Given the description of an element on the screen output the (x, y) to click on. 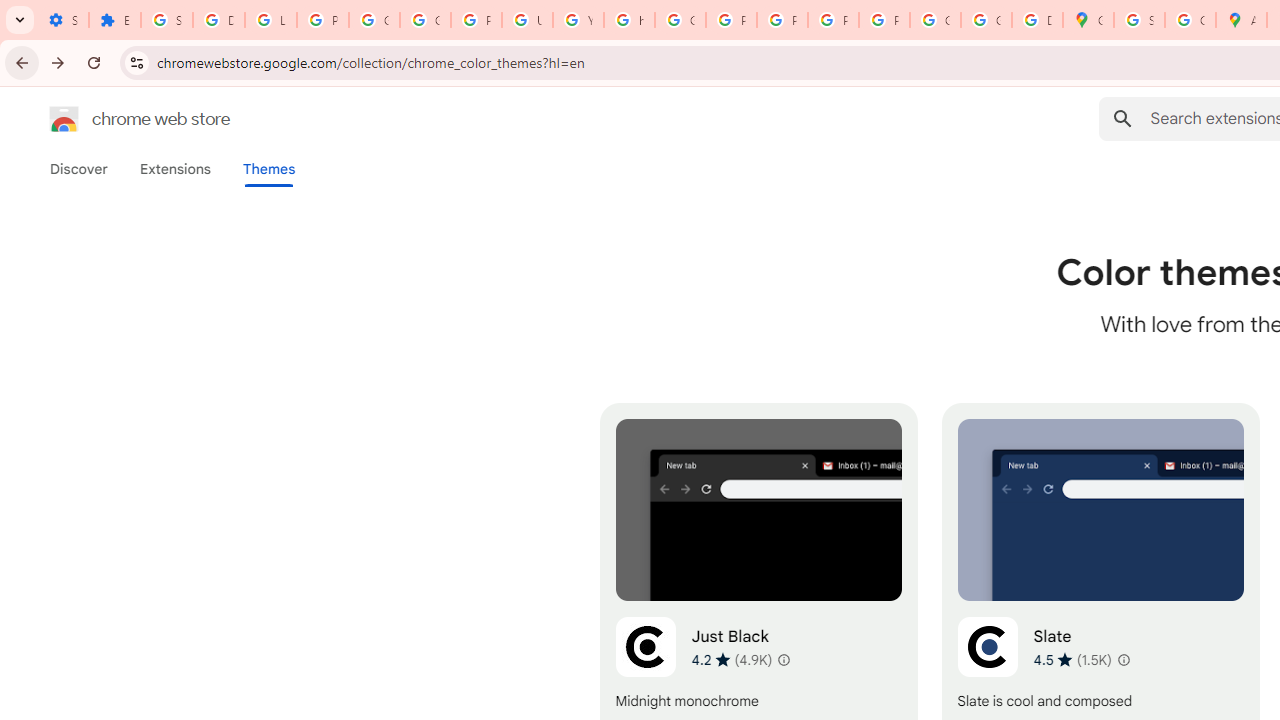
Create your Google Account (1189, 20)
Learn more about results and reviews "Slate" (1122, 659)
https://scholar.google.com/ (629, 20)
Sign in - Google Accounts (166, 20)
